Given the description of an element on the screen output the (x, y) to click on. 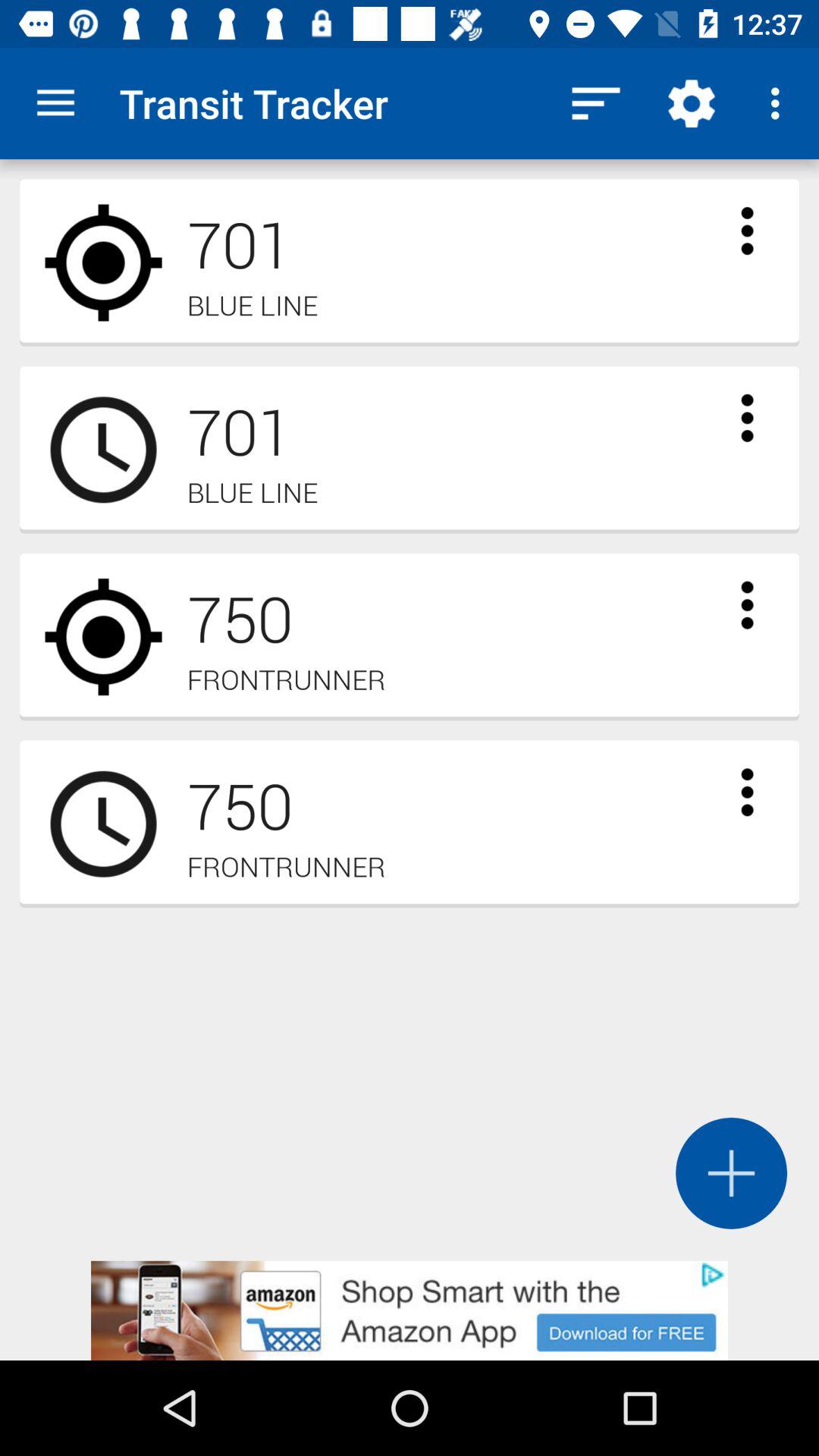
open context menu (747, 417)
